Given the description of an element on the screen output the (x, y) to click on. 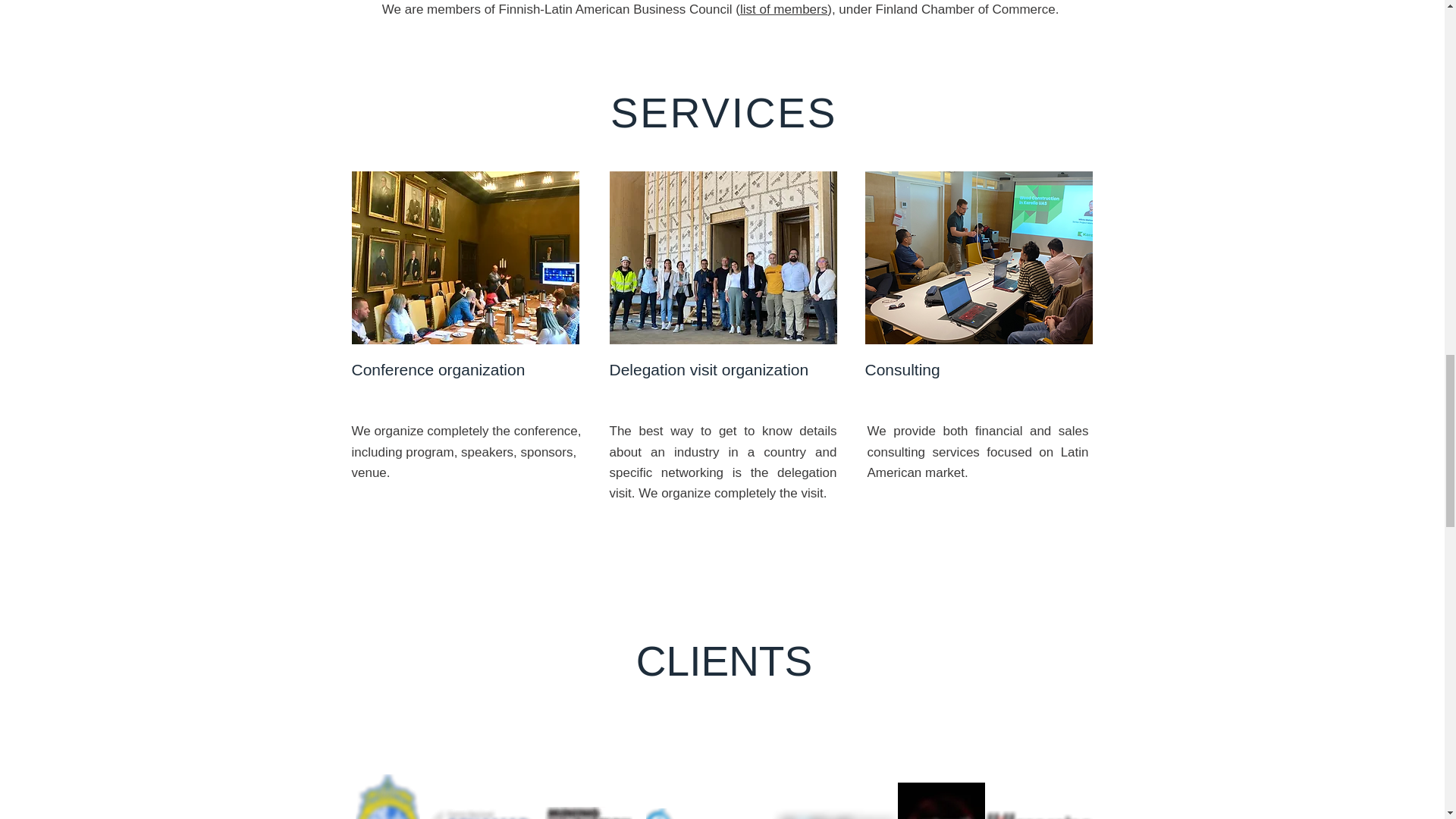
Conference organization (438, 369)
list of members (783, 9)
Delegation visit organization (709, 369)
Consulting (901, 369)
